Given the description of an element on the screen output the (x, y) to click on. 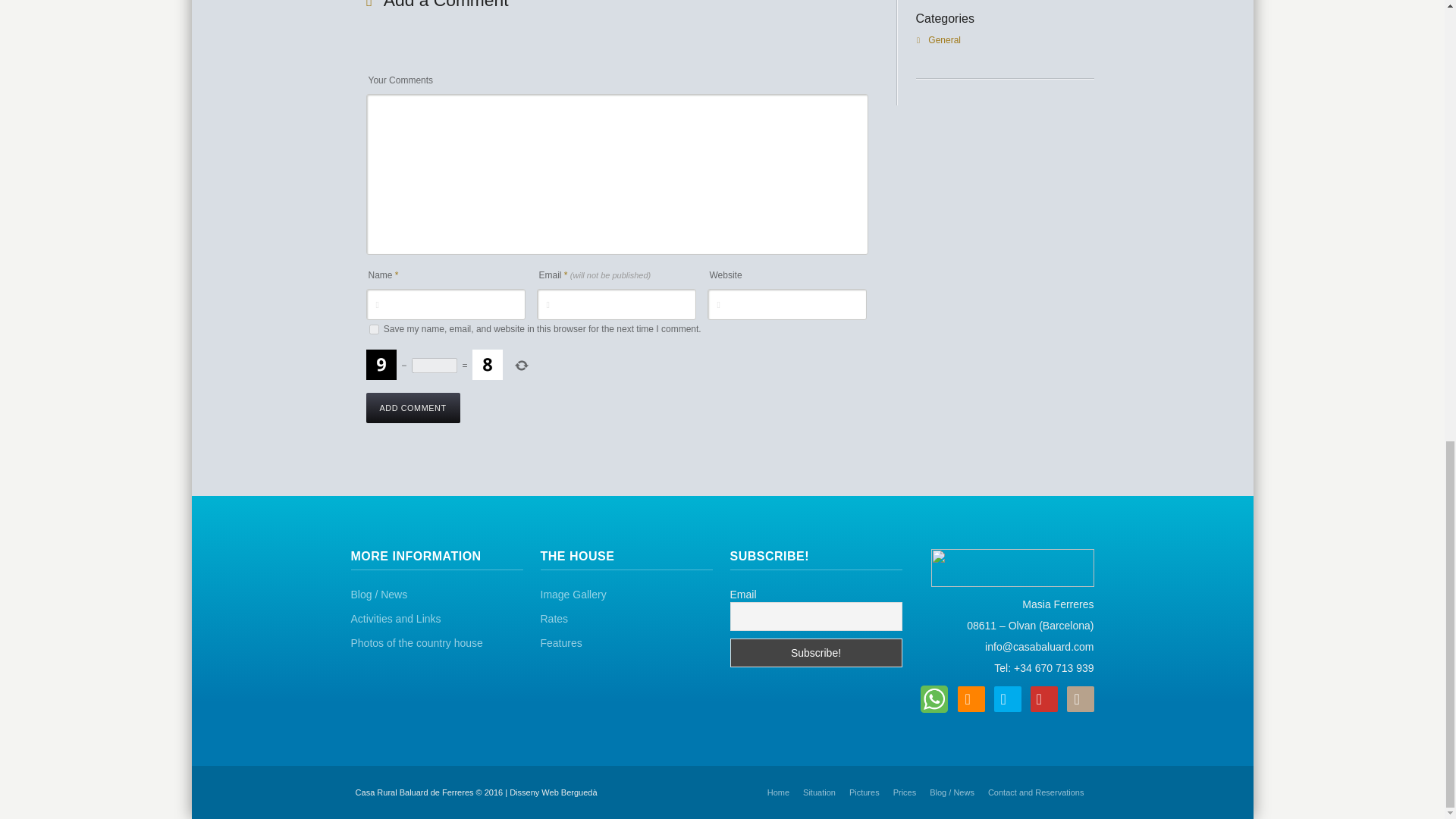
Subscribe! (815, 652)
Add Comment (412, 408)
Instagram (1079, 698)
Add Comment (412, 408)
YouTube (1043, 698)
RSS Feed (970, 698)
Twitter (1006, 698)
yes (373, 329)
